Given the description of an element on the screen output the (x, y) to click on. 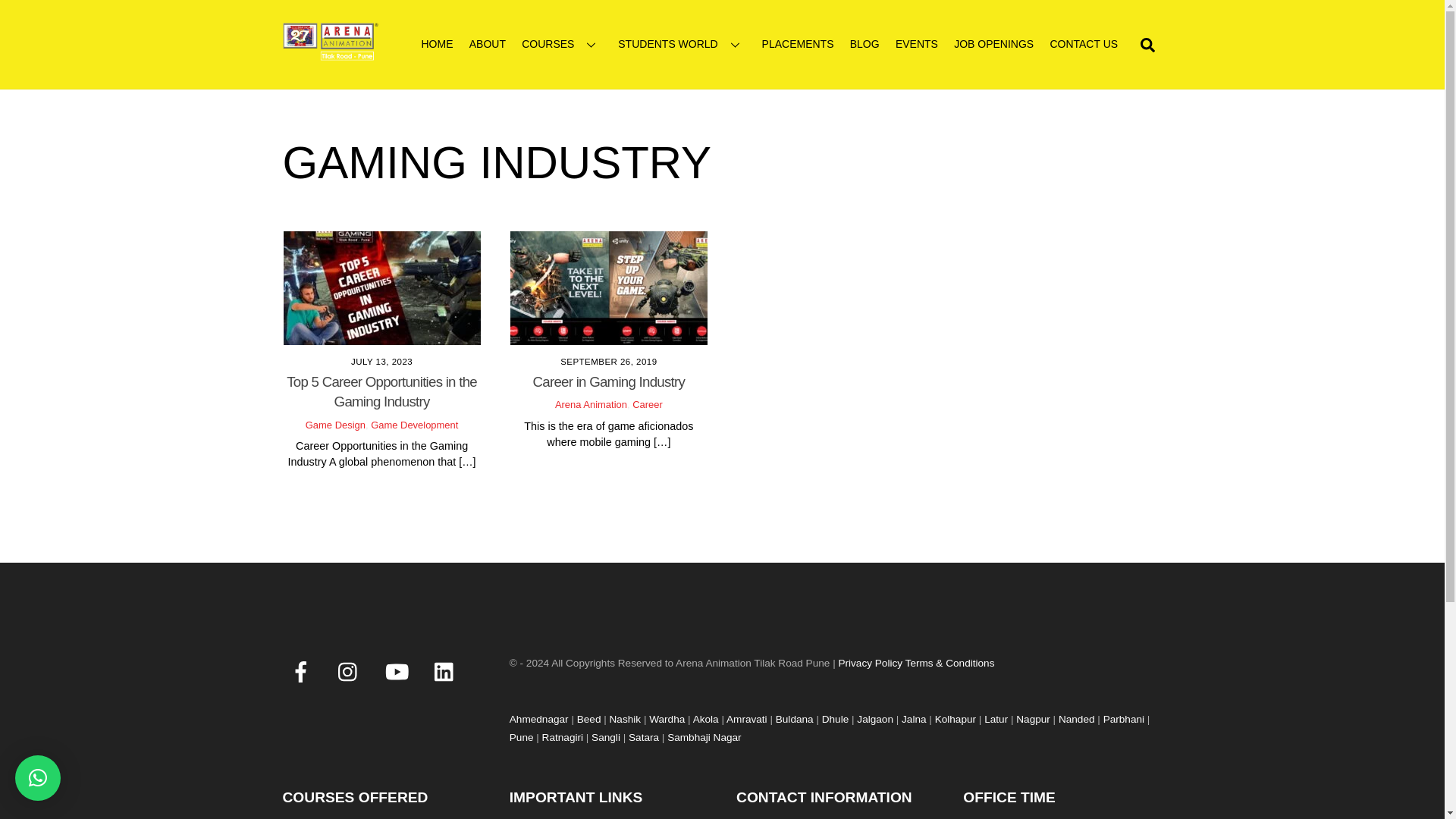
PLACEMENTS (797, 43)
Arena Animation (330, 53)
Game Design (335, 424)
Career in Gaming Industry (608, 381)
EVENTS (915, 43)
Top 5 Career Opportunities in the Gaming Industry (381, 286)
HOME (437, 43)
ABOUT (487, 43)
Nashik (626, 726)
BLOG (864, 43)
